Given the description of an element on the screen output the (x, y) to click on. 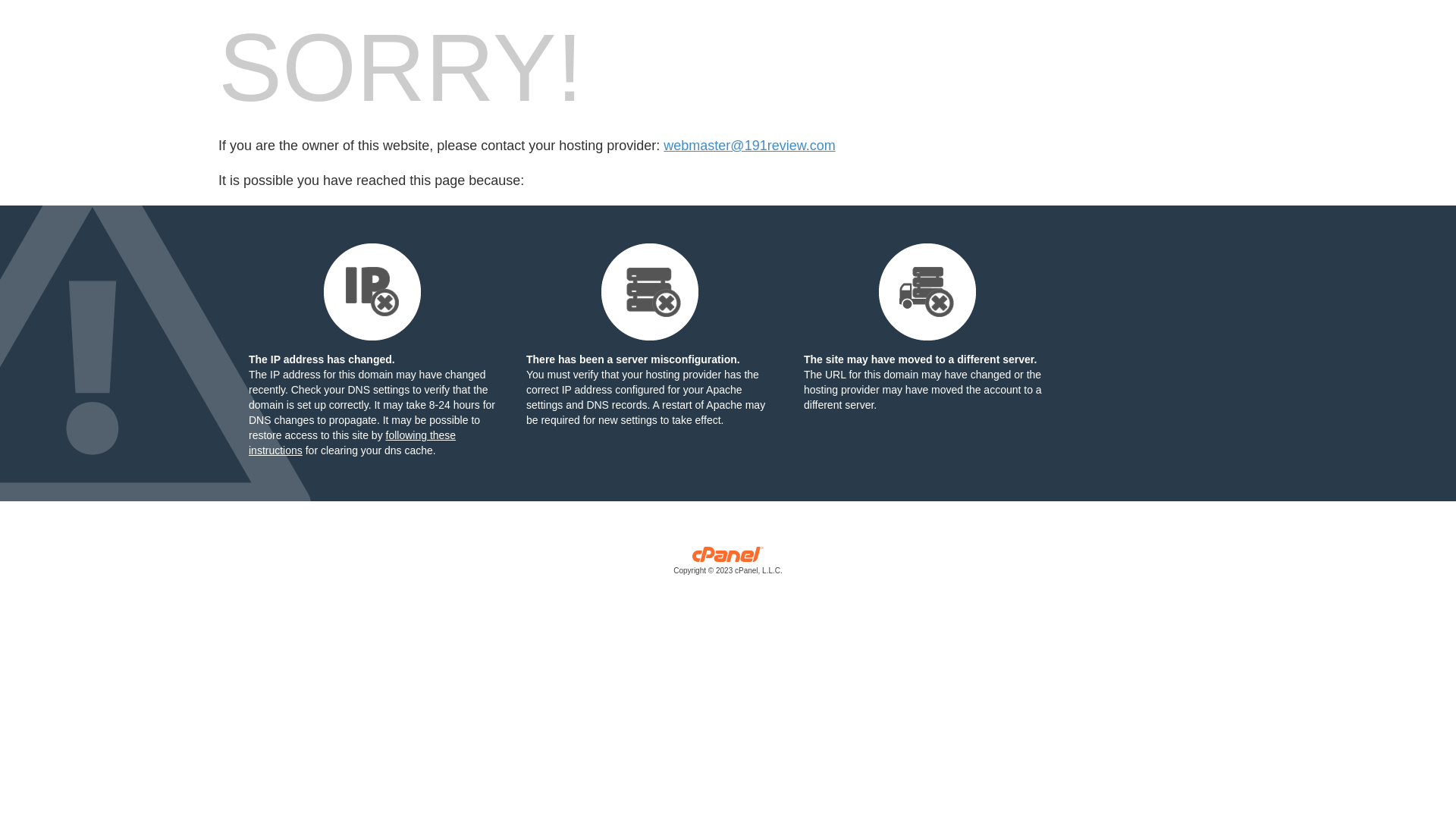
following these instructions Element type: text (351, 442)
webmaster@191review.com Element type: text (748, 145)
